Given the description of an element on the screen output the (x, y) to click on. 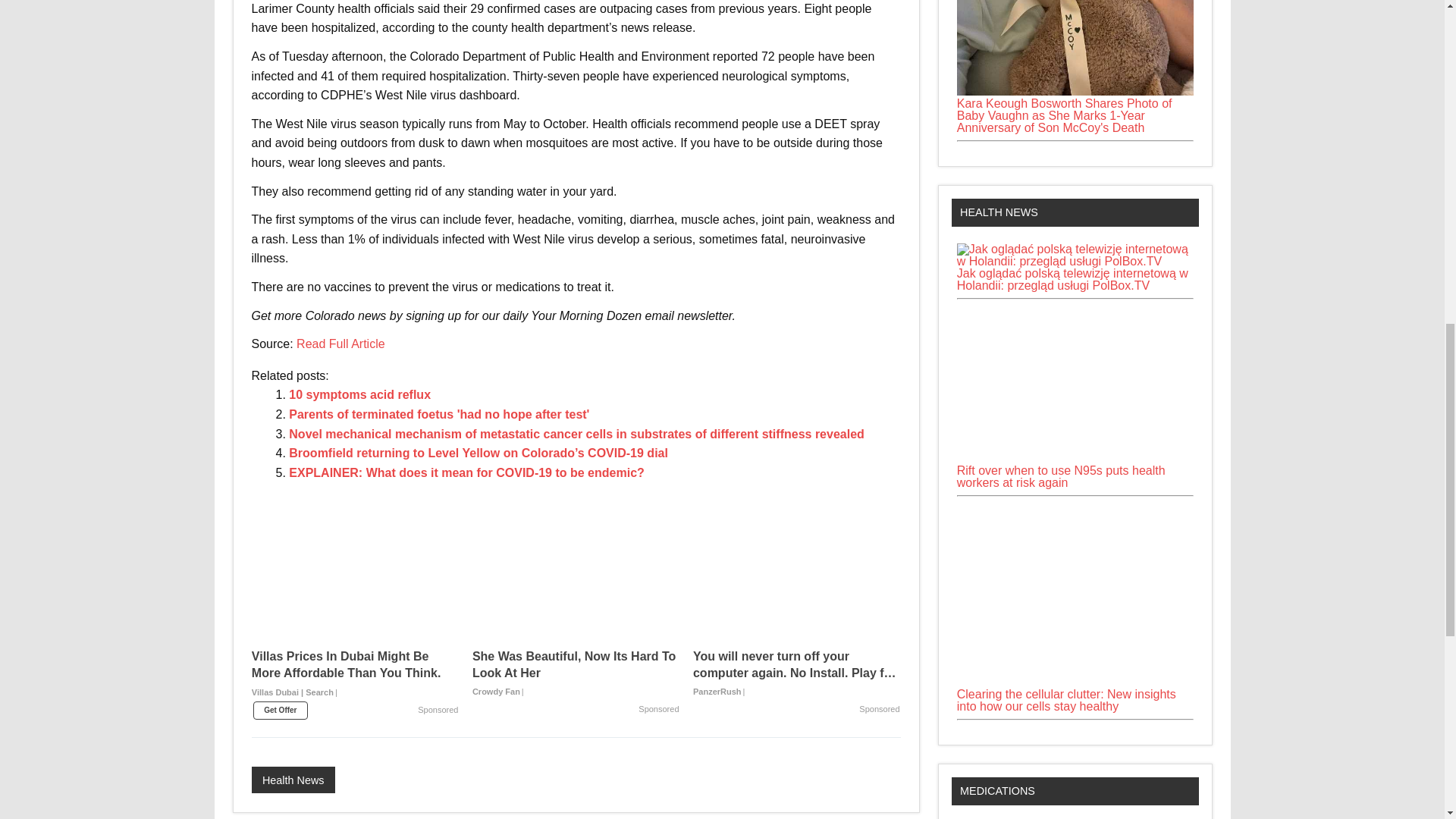
She Was Beautiful, Now Its Hard To Look At Her (575, 674)
Parents of terminated foetus 'had no hope after test' (438, 413)
EXPLAINER: What does it mean for COVID-19 to be endemic? (466, 472)
EXPLAINER: What does it mean for COVID-19 to be endemic? (466, 472)
Read Full Article (341, 343)
Sponsored (437, 710)
Parents of terminated foetus 'had no hope after test' (438, 413)
Sponsored (658, 709)
Get Offer (280, 710)
She Was Beautiful, Now Its Hard To Look At Her (575, 585)
